Given the description of an element on the screen output the (x, y) to click on. 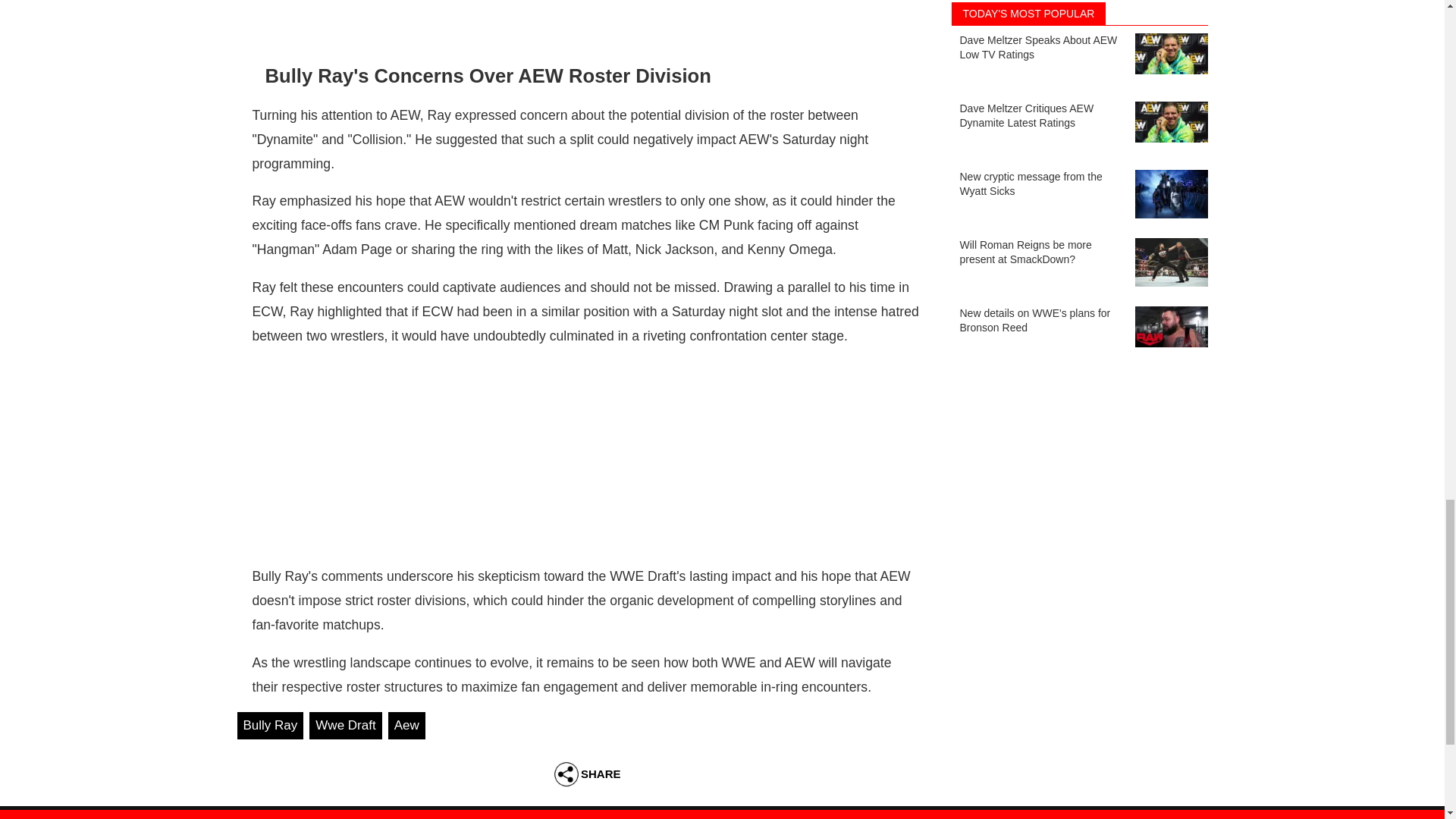
Bully Ray (268, 725)
Wwe Draft (344, 725)
Aew (406, 725)
